Given the description of an element on the screen output the (x, y) to click on. 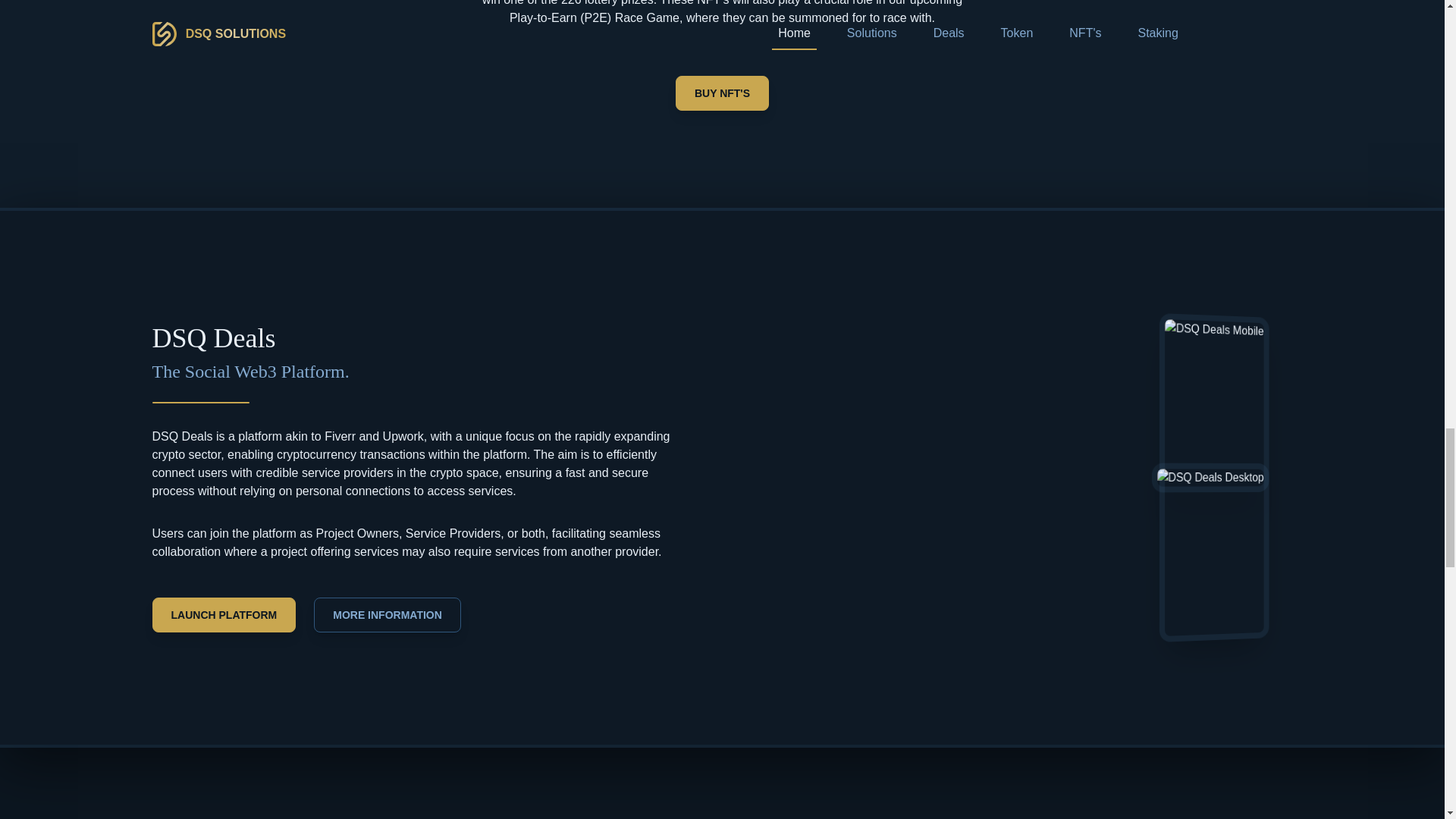
LAUNCH PLATFORM (223, 614)
BUY NFT'S (721, 93)
MORE INFORMATION (387, 614)
